Given the description of an element on the screen output the (x, y) to click on. 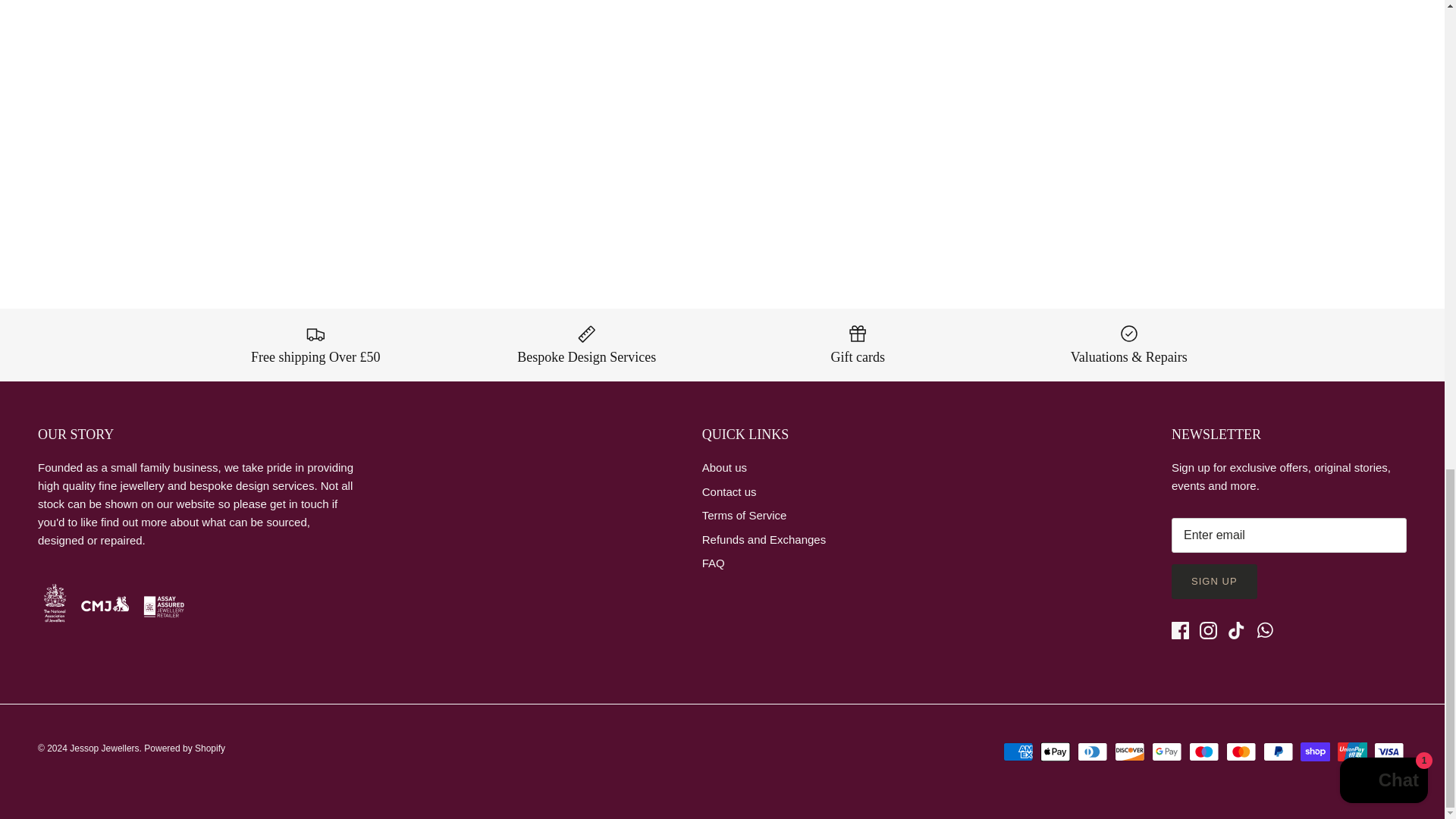
American Express (1018, 751)
Facebook (1180, 630)
Diners Club (1092, 751)
Discover (1129, 751)
Instagram (1208, 630)
Apple Pay (1055, 751)
